Given the description of an element on the screen output the (x, y) to click on. 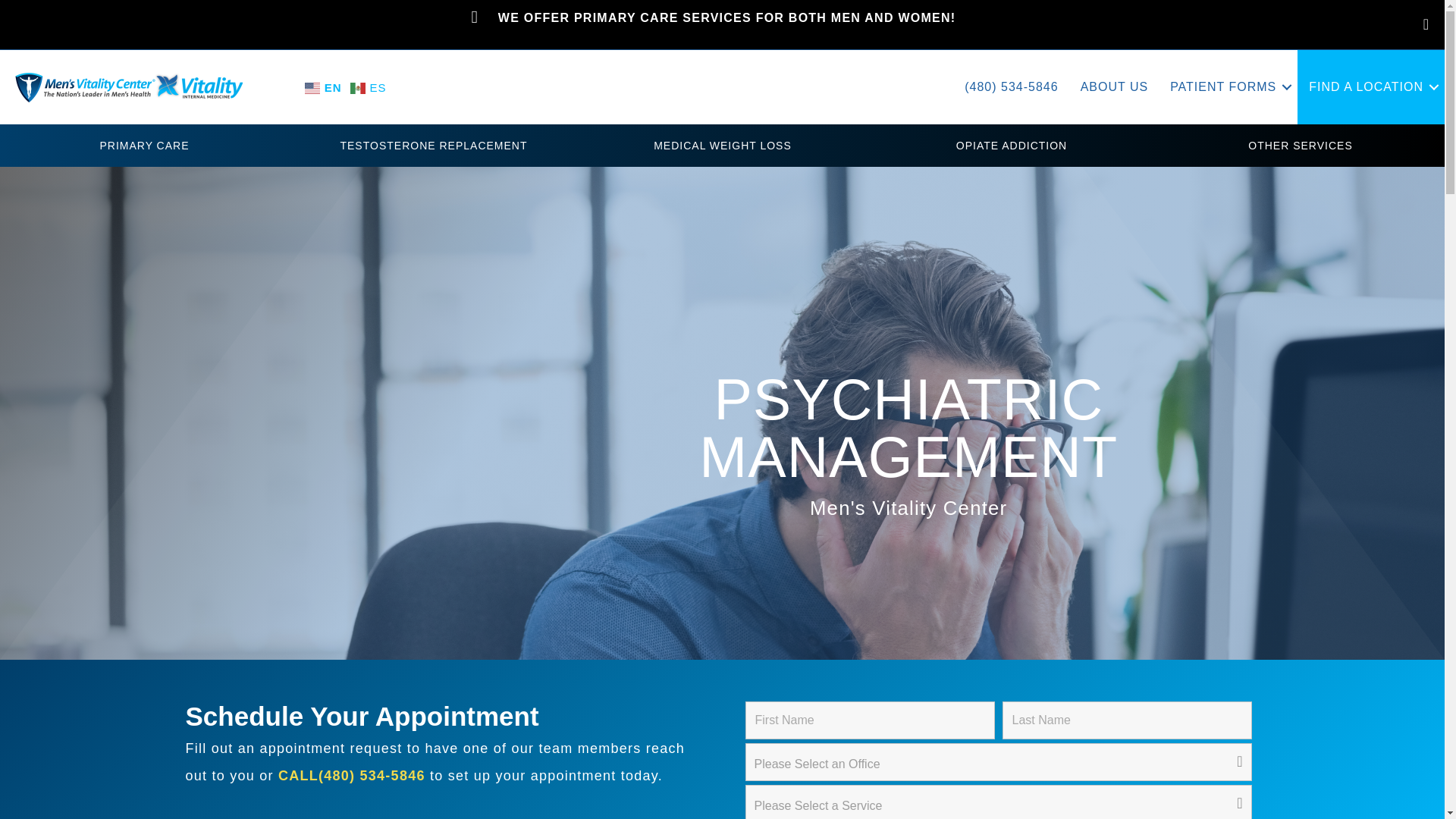
Men's Vitality Center Men's Vitality Center Logo (128, 87)
English (325, 87)
Spanish (370, 87)
ES (370, 87)
EN (325, 87)
